Given the description of an element on the screen output the (x, y) to click on. 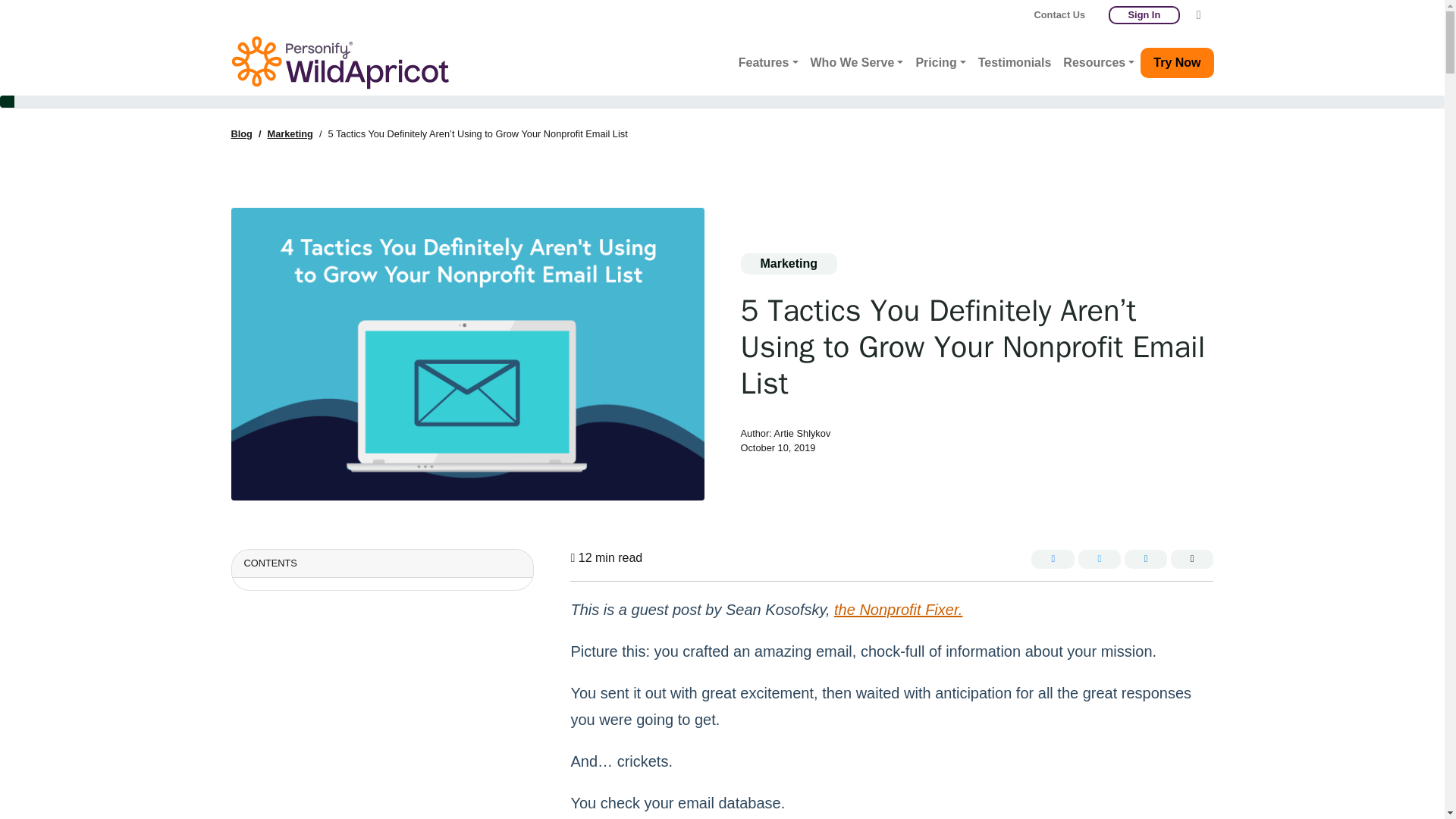
Sign In (1144, 15)
Resources (1098, 62)
Contact Us (1059, 15)
Pricing (939, 62)
Features (768, 62)
Who We Serve (855, 62)
Testimonials (1015, 62)
